Given the description of an element on the screen output the (x, y) to click on. 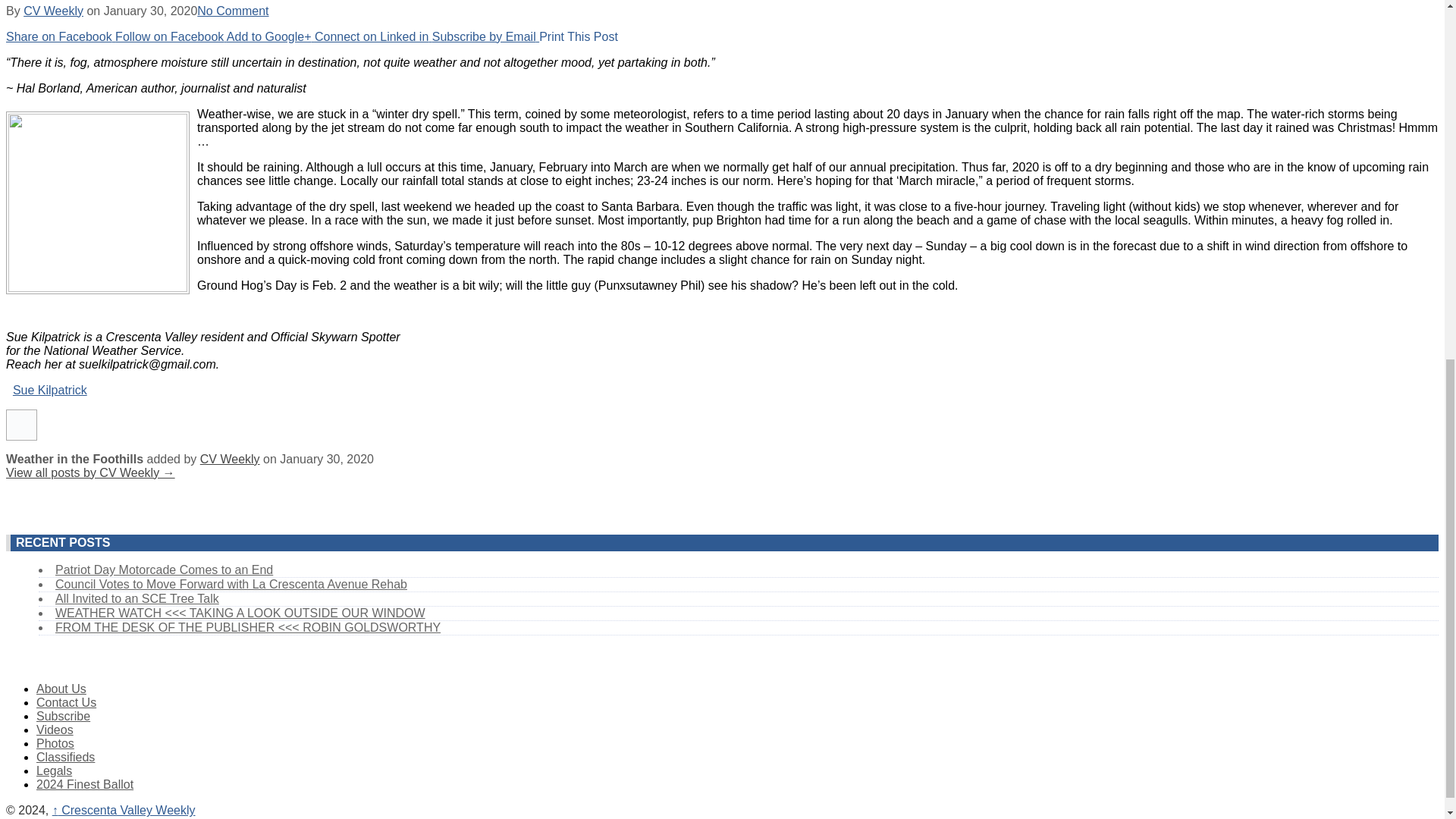
Share on Facebook (60, 36)
Share on Twitter (171, 36)
CV Weekly (52, 10)
Follow on Facebook (171, 36)
Share on LinkedIn (373, 36)
Connect on Linked in (373, 36)
Share on Facebook (60, 36)
Crescenta Valley Weekly (123, 809)
Send by Email (485, 36)
Print This Post (577, 36)
